Given the description of an element on the screen output the (x, y) to click on. 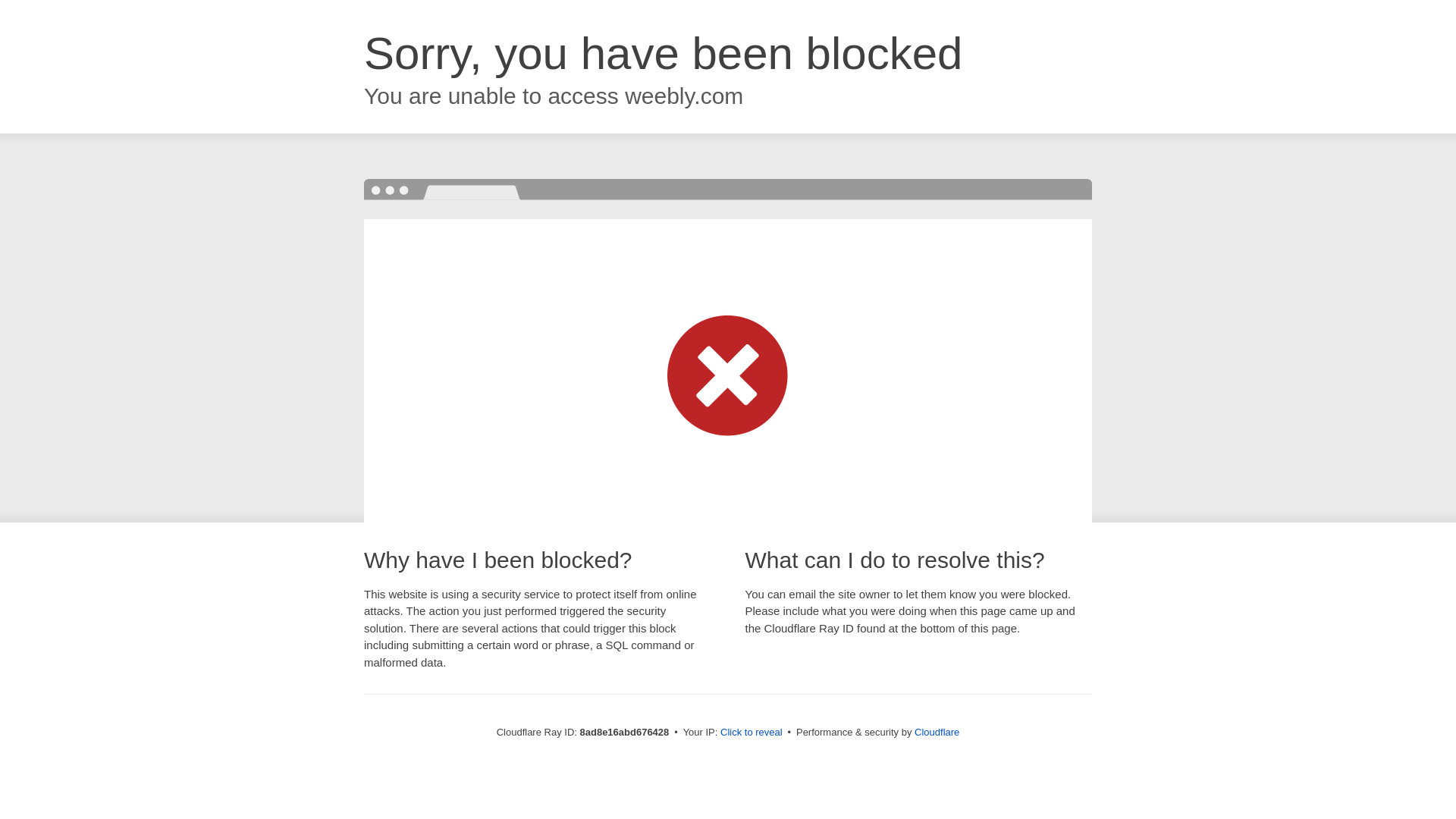
Cloudflare (936, 731)
Click to reveal (751, 732)
